Given the description of an element on the screen output the (x, y) to click on. 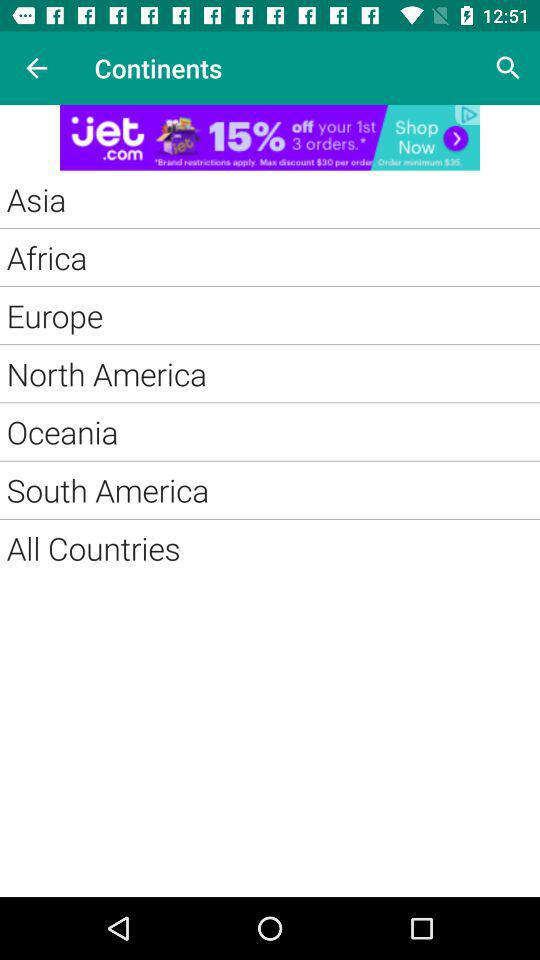
advertisement from outside source (270, 137)
